Given the description of an element on the screen output the (x, y) to click on. 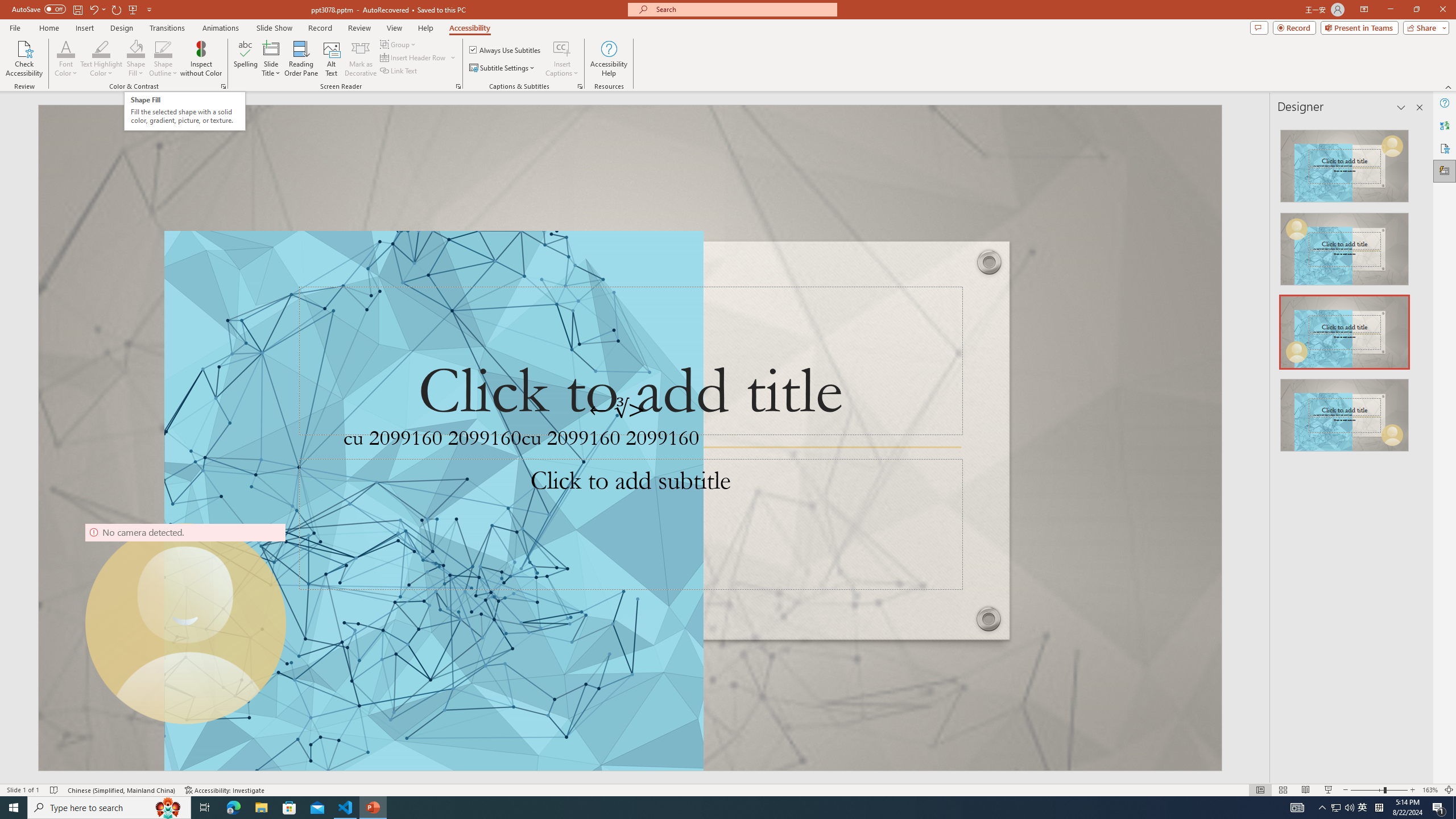
Title TextBox (630, 360)
Class: NetUIImage (1344, 415)
Slide Title (271, 58)
Link Text (399, 69)
Translator (1444, 125)
Insert Captions (561, 58)
